Given the description of an element on the screen output the (x, y) to click on. 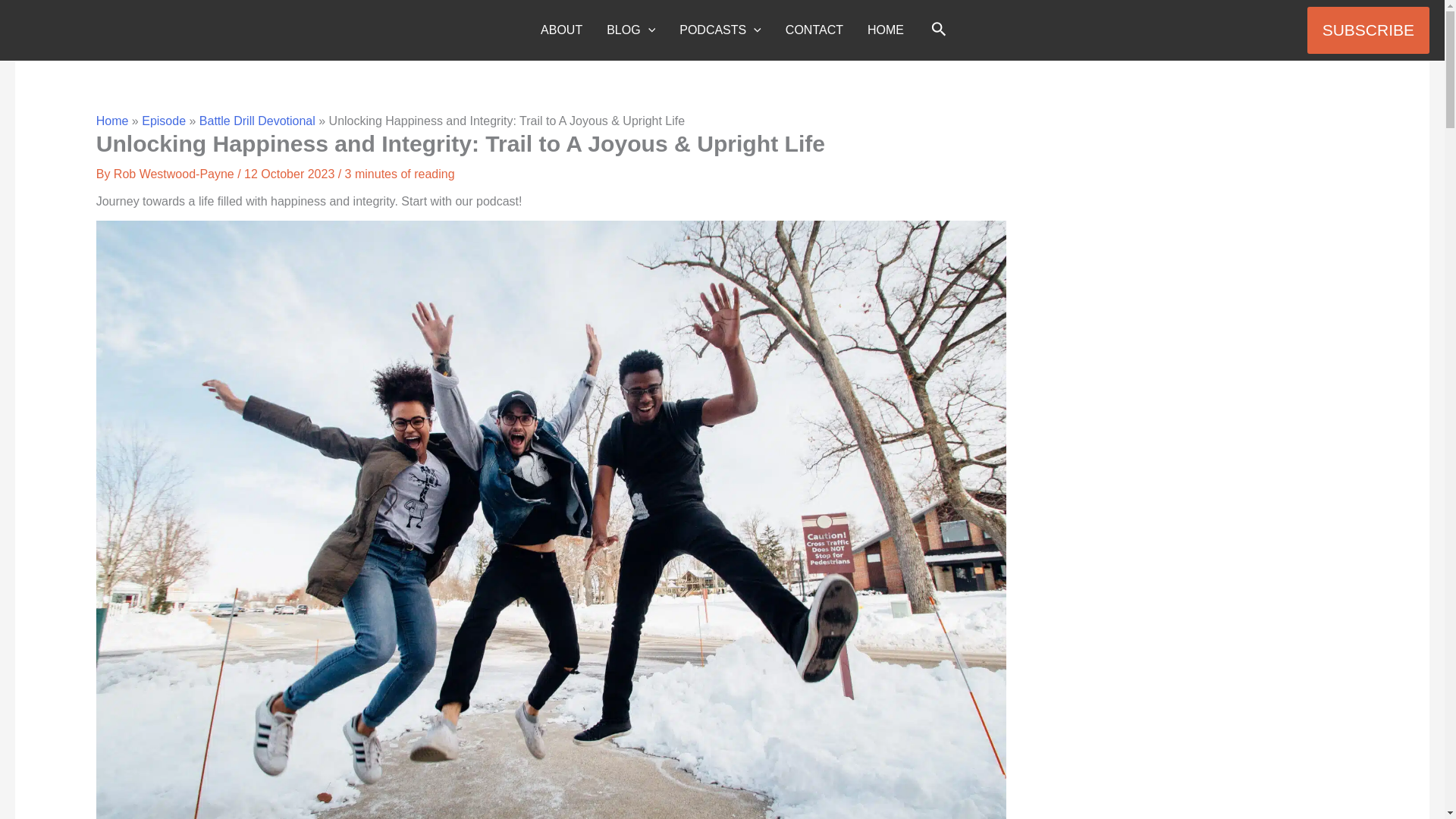
ABOUT (561, 30)
CONTACT (814, 30)
HOME (885, 30)
View all posts by Rob Westwood-Payne (175, 173)
BLOG (630, 30)
PODCASTS (719, 30)
SUBSCRIBE (1368, 29)
